Given the description of an element on the screen output the (x, y) to click on. 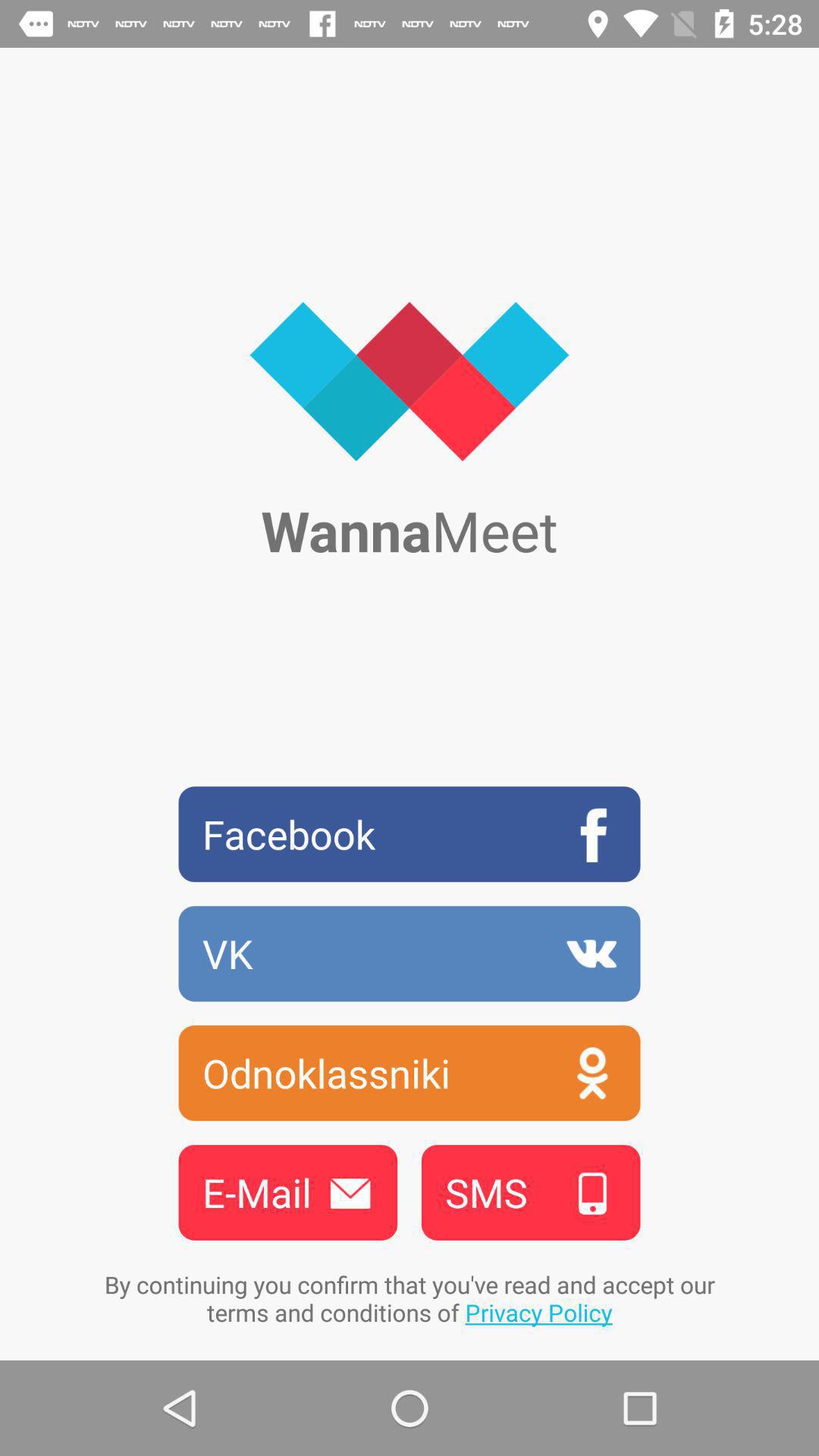
jump until the vk (409, 953)
